Given the description of an element on the screen output the (x, y) to click on. 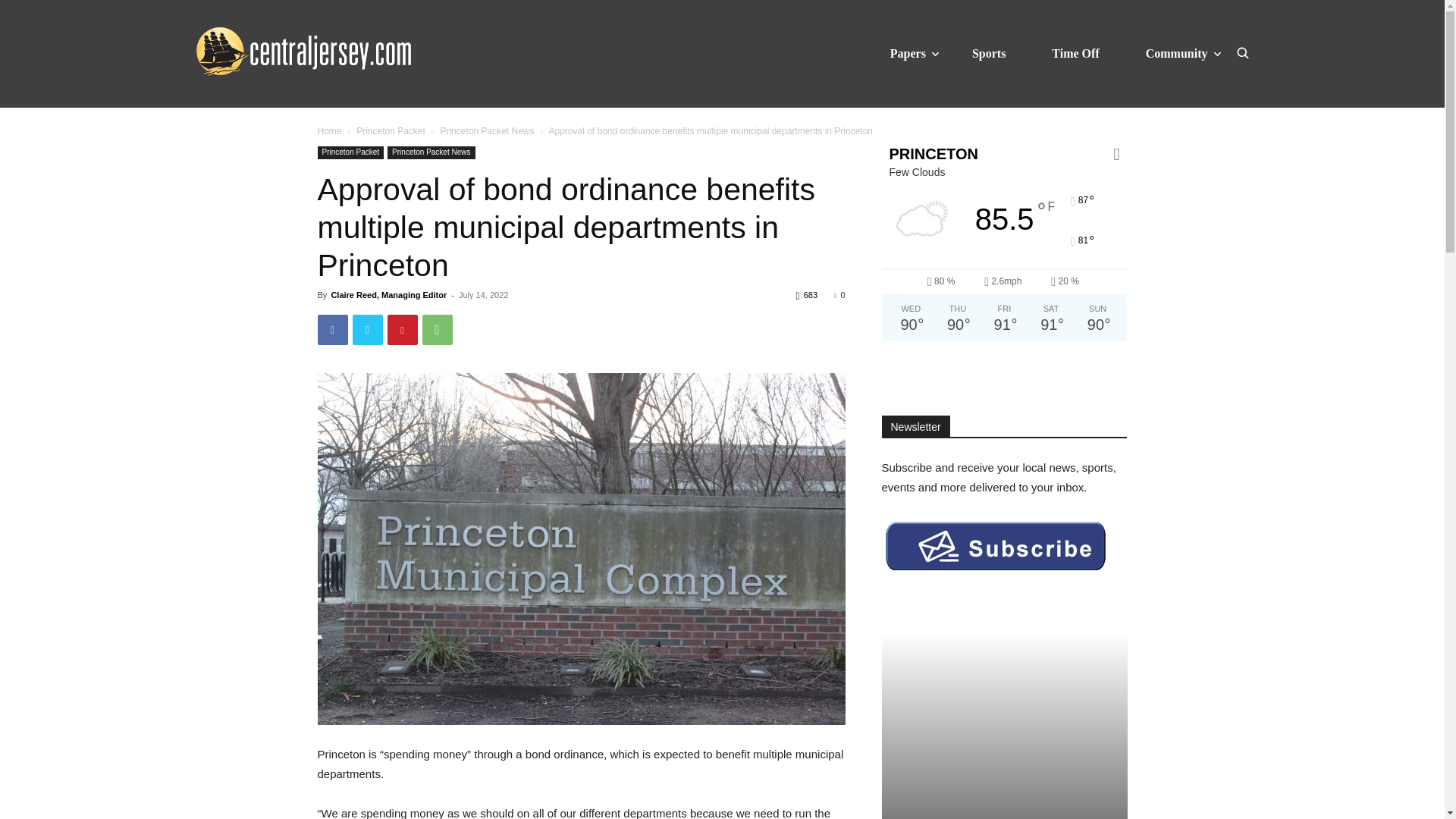
WhatsApp (436, 329)
Time Off (1075, 52)
Papers (907, 52)
Claire Reed, Managing Editor (388, 294)
Facebook (332, 329)
Princeton Packet (390, 131)
Twitter (366, 329)
View all posts in Princeton Packet News (486, 131)
Pinterest (401, 329)
Community (1176, 52)
0 (839, 294)
View all posts in Princeton Packet (390, 131)
Princeton Packet (350, 152)
Sports (989, 52)
Home (328, 131)
